Given the description of an element on the screen output the (x, y) to click on. 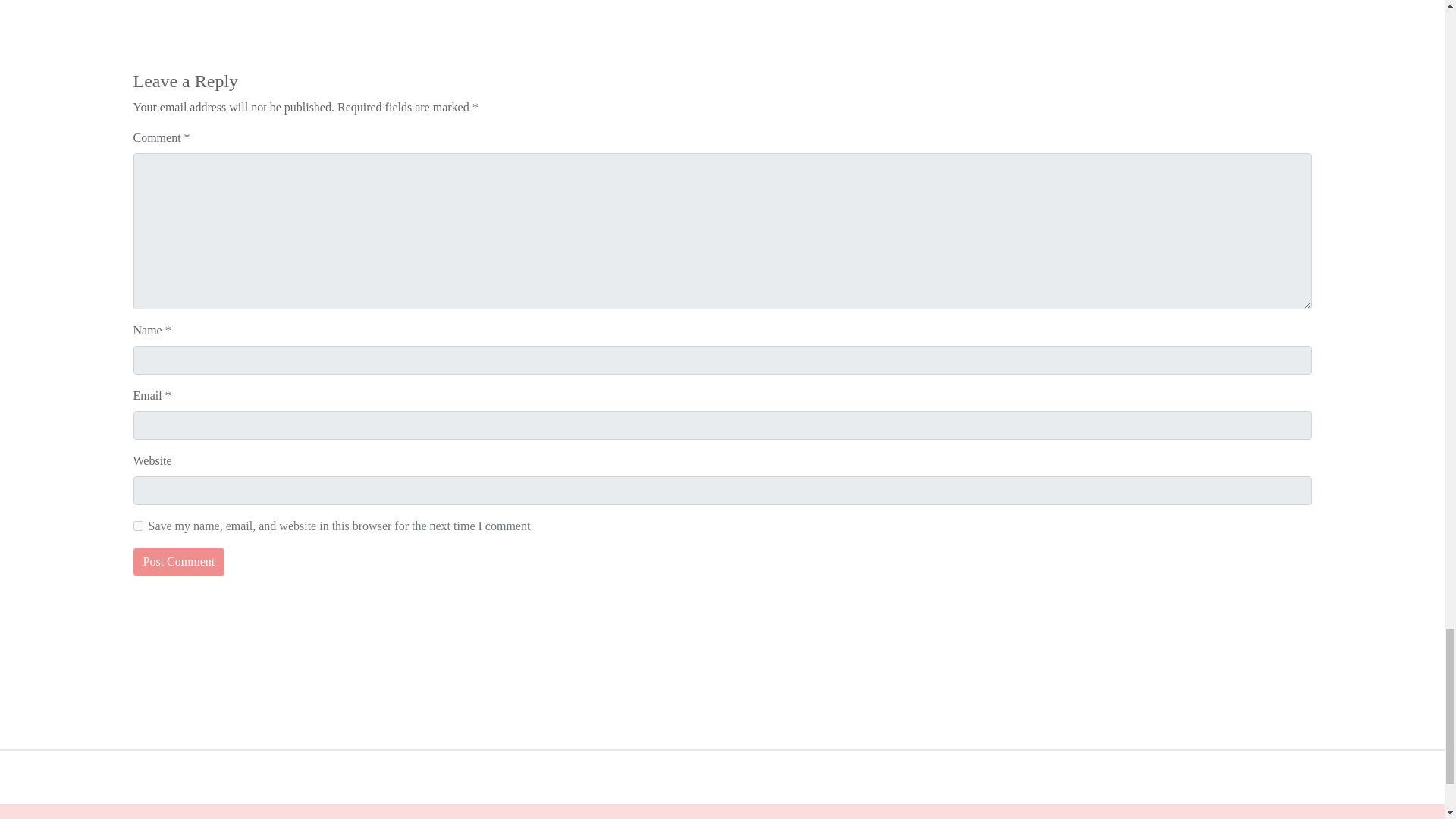
yes (137, 525)
Post Comment (179, 561)
Post Comment (179, 561)
